Given the description of an element on the screen output the (x, y) to click on. 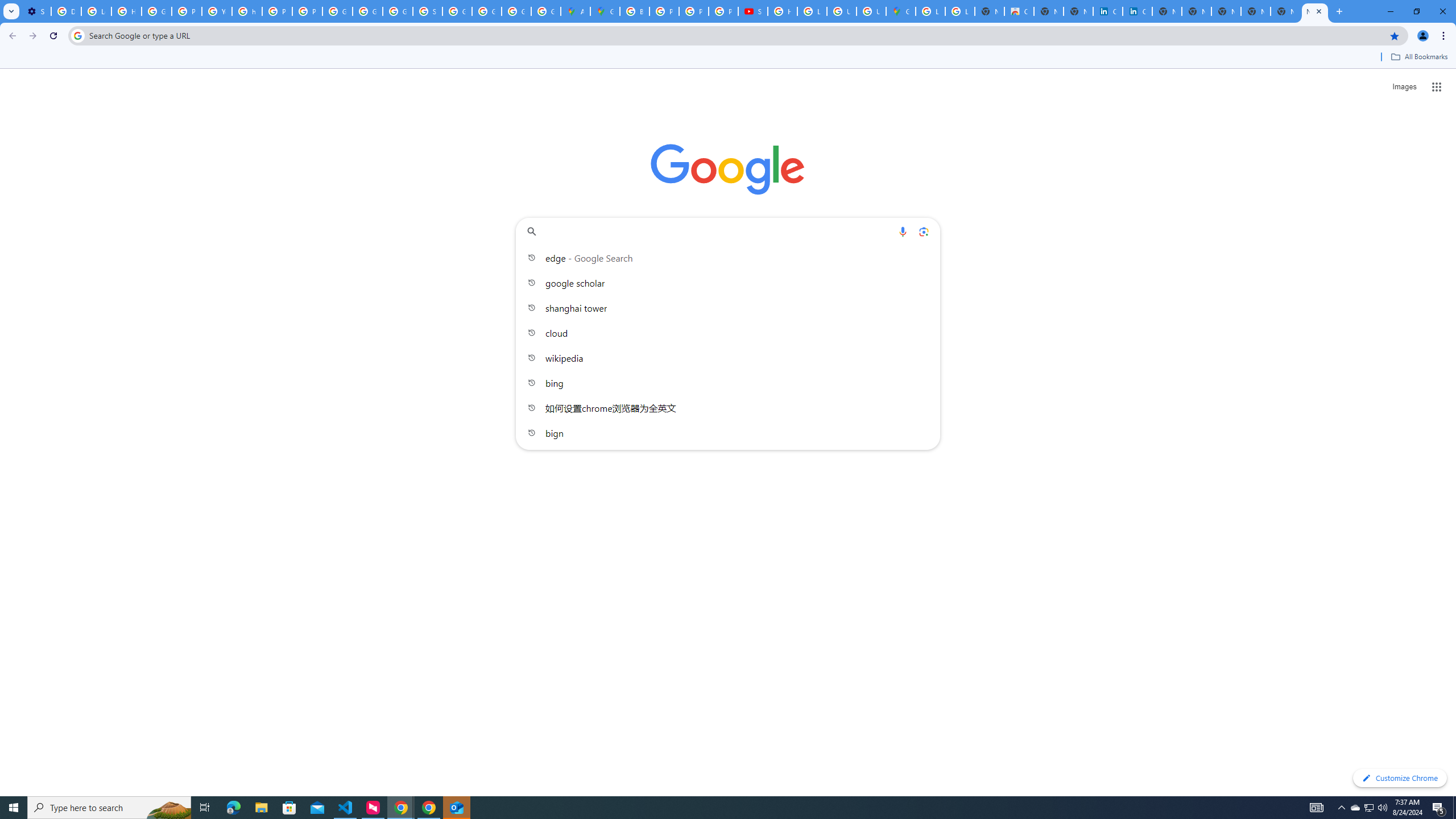
Privacy Help Center - Policies Help (693, 11)
Sign in - Google Accounts (426, 11)
Cookie Policy | LinkedIn (1107, 11)
Search Google or type a URL (727, 230)
Privacy Help Center - Policies Help (185, 11)
